Given the description of an element on the screen output the (x, y) to click on. 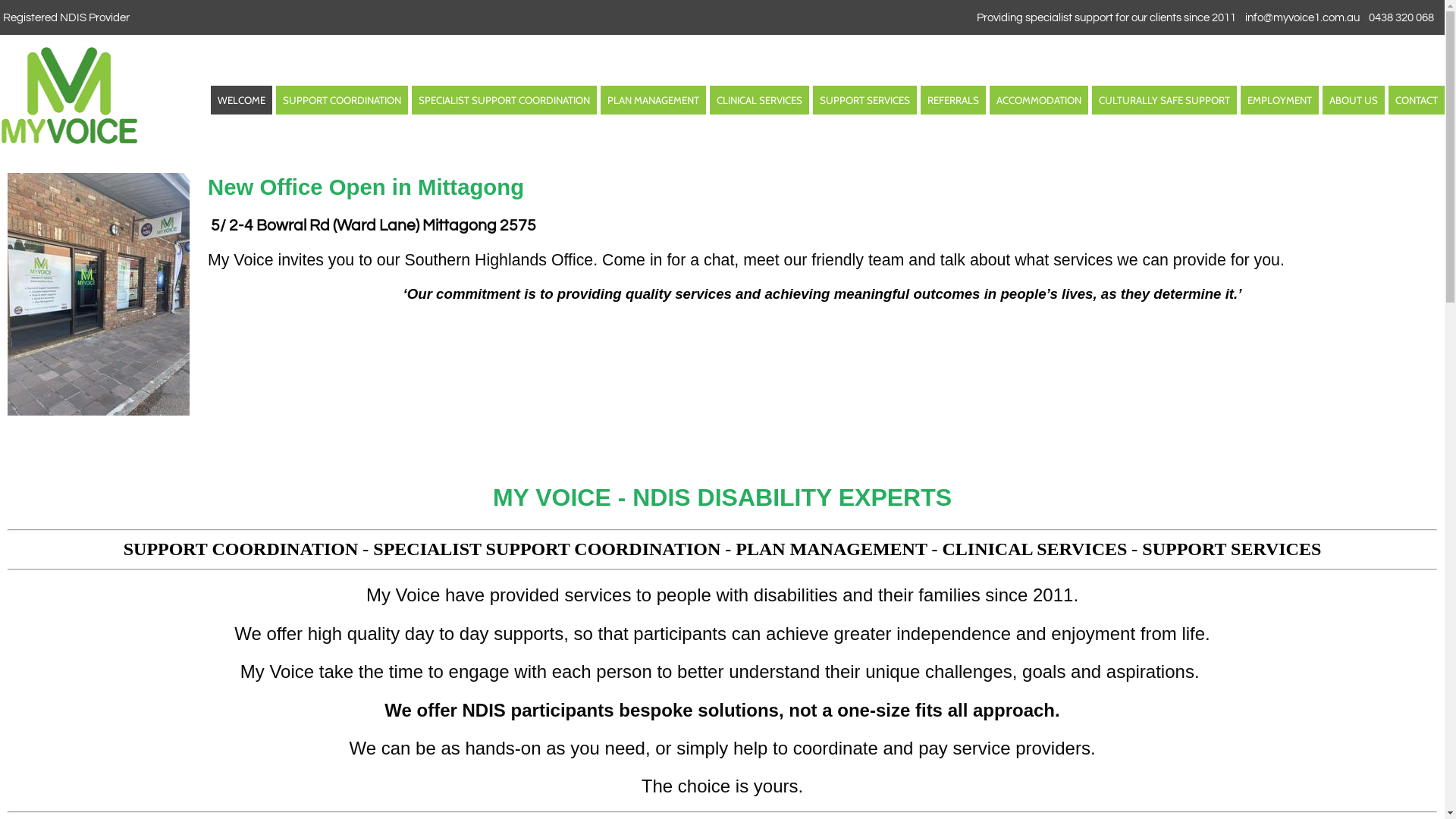
CLINICAL SERVICES Element type: text (759, 100)
WELCOME Element type: text (241, 100)
SUPPORT COORDINATION Element type: text (341, 100)
EMPLOYMENT Element type: text (1279, 100)
CULTURALLY SAFE SUPPORT Element type: text (1164, 100)
ABOUT US Element type: text (1353, 100)
SUPPORT SERVICES Element type: text (864, 100)
SPECIALIST SUPPORT COORDINATION Element type: text (503, 100)
CONTACT Element type: text (1416, 100)
PLAN MANAGEMENT Element type: text (653, 100)
ACCOMMODATION Element type: text (1038, 100)
REFERRALS Element type: text (952, 100)
